Given the description of an element on the screen output the (x, y) to click on. 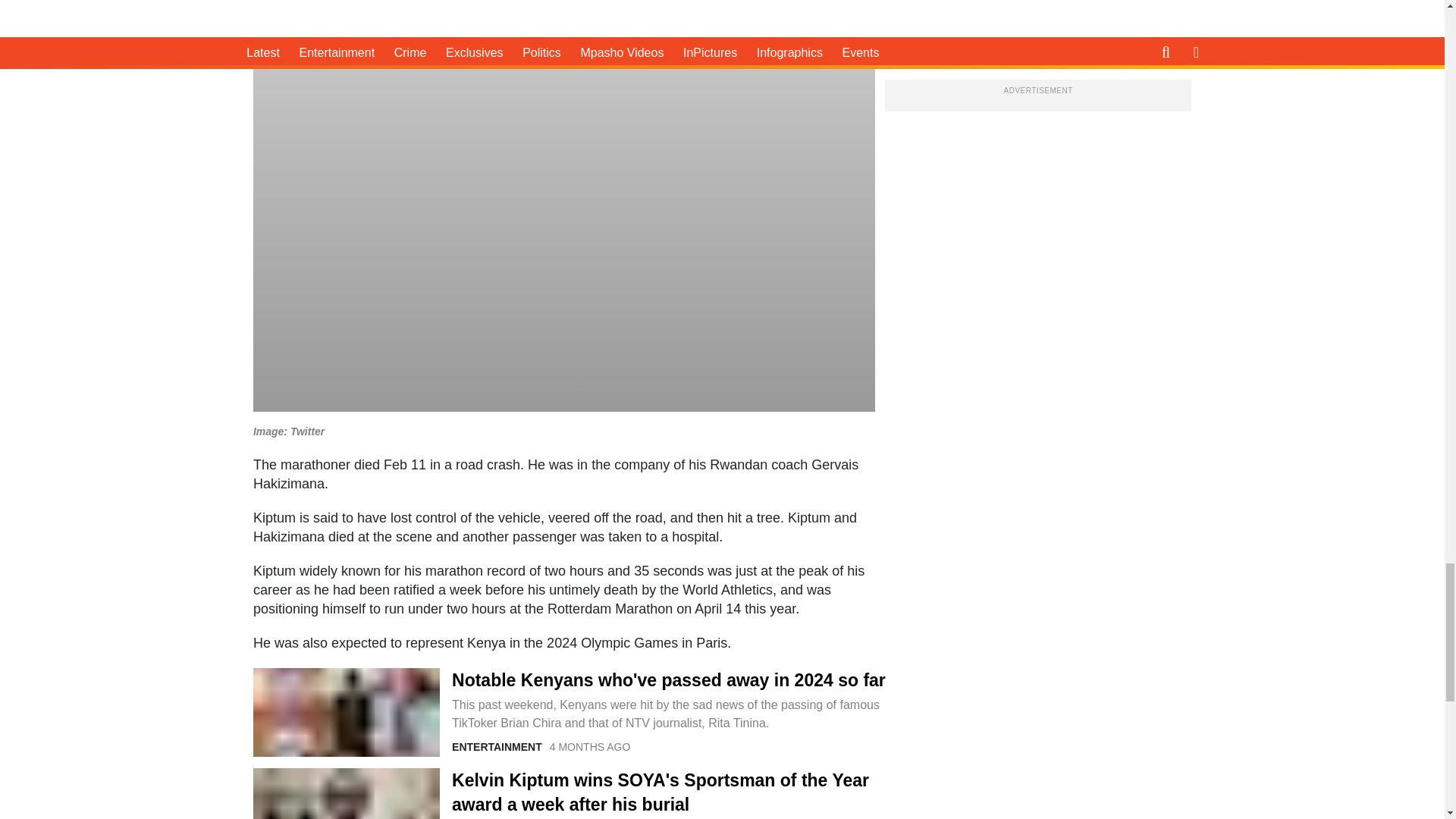
Kelvin Kiptum (346, 793)
